Given the description of an element on the screen output the (x, y) to click on. 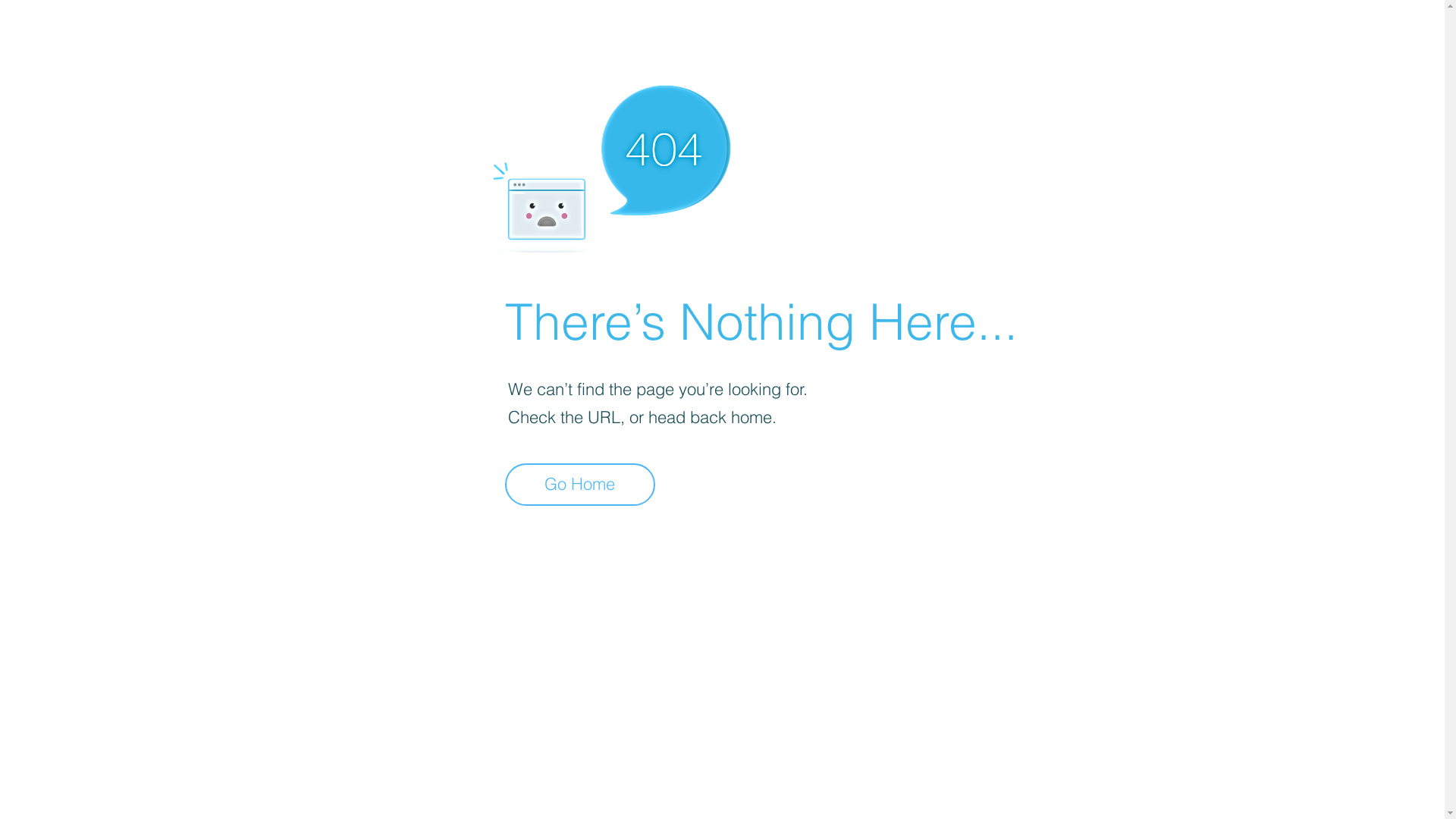
404-icon_2.png Element type: hover (610, 164)
Go Home Element type: text (580, 484)
